Given the description of an element on the screen output the (x, y) to click on. 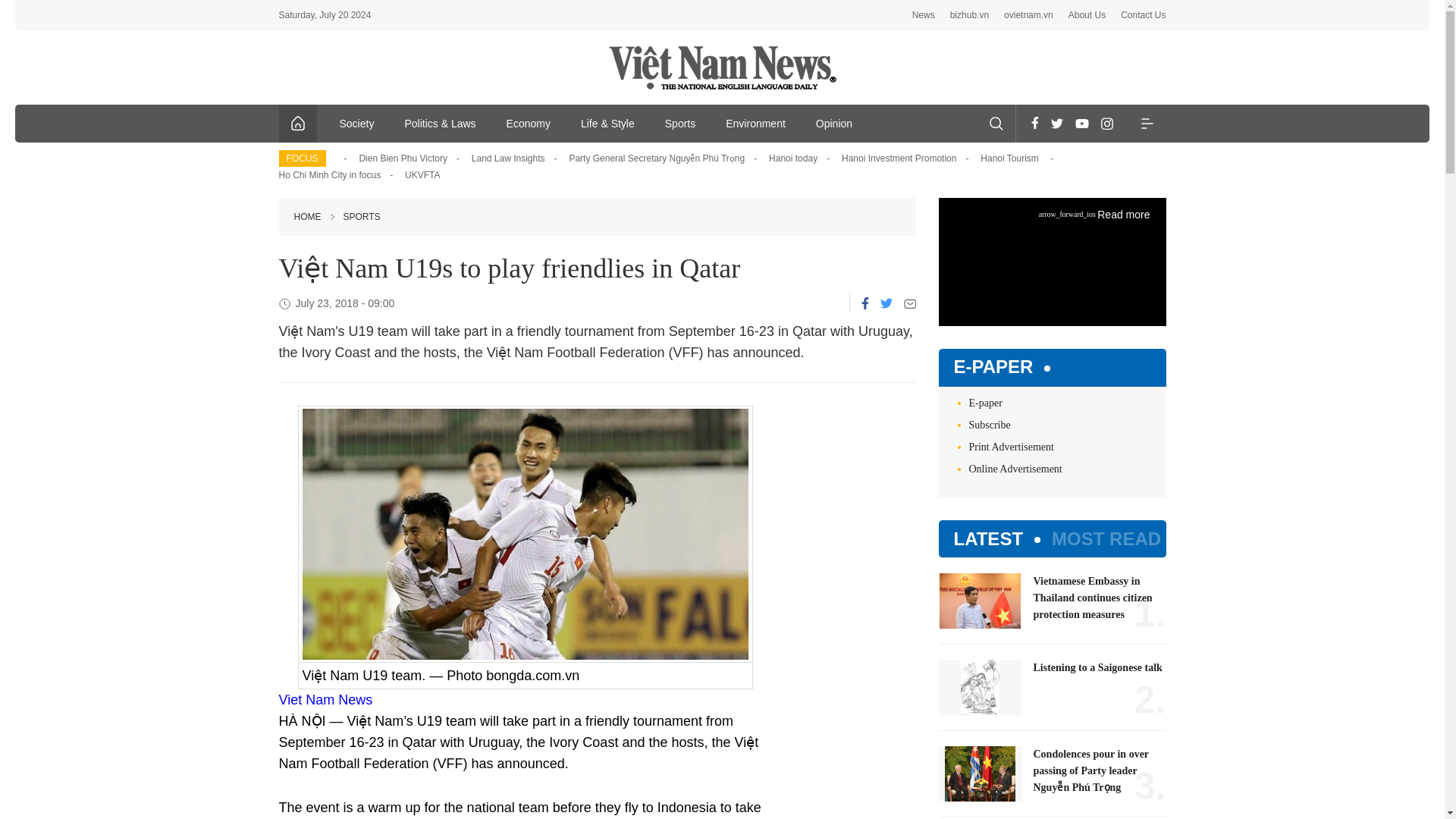
Contact Us (1143, 15)
Youtube (1081, 122)
Society (357, 123)
bizhub.vn (969, 15)
Instagram (1106, 123)
Sports (679, 123)
Viet Nam News (325, 699)
Economy (529, 123)
News (923, 15)
Environment (755, 123)
Twitter (885, 303)
ovietnam.vn (1028, 15)
Opinion (833, 123)
About Us (1086, 15)
Twitter (1056, 122)
